Given the description of an element on the screen output the (x, y) to click on. 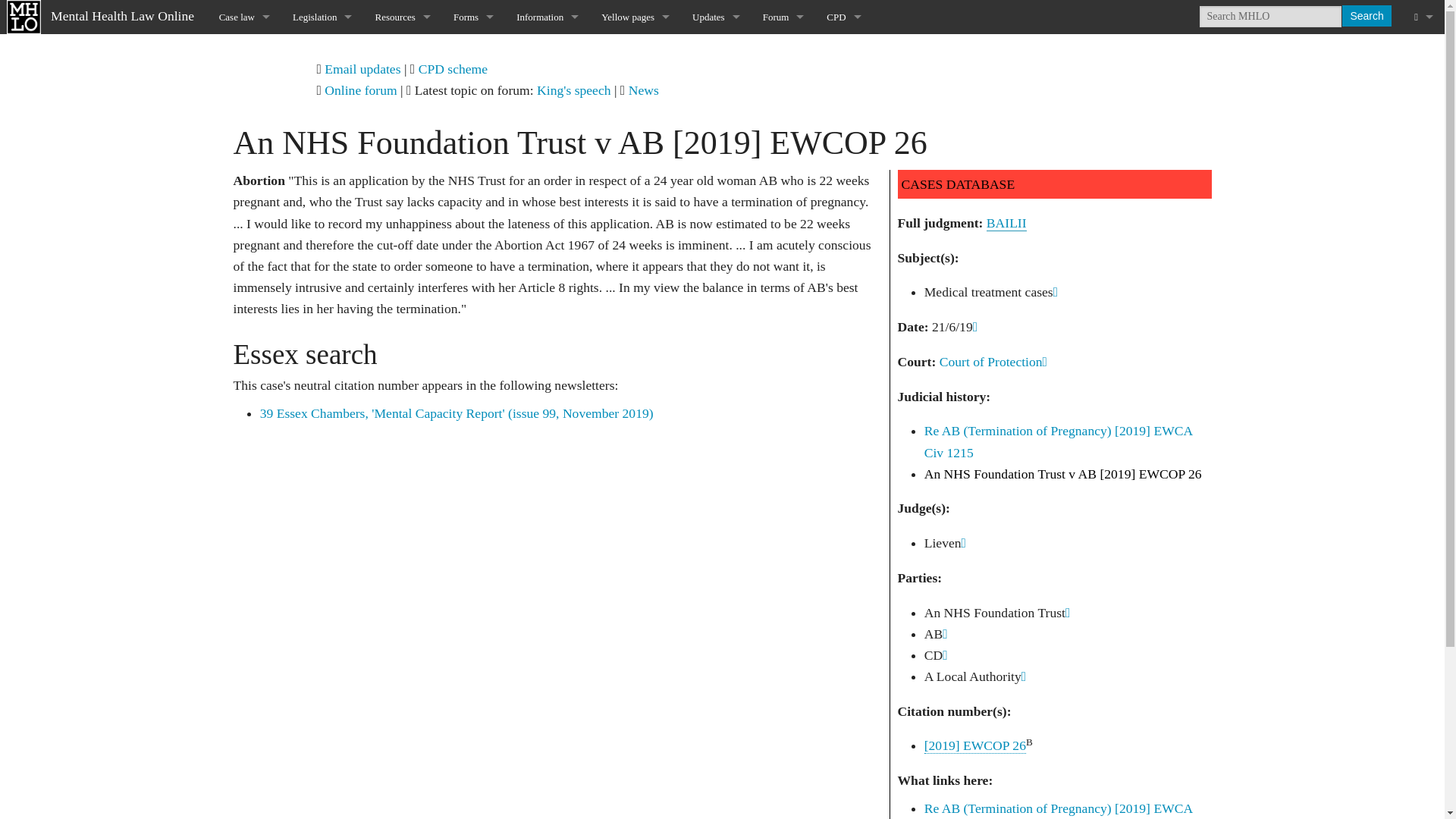
MHA Statutory Forms (473, 50)
Legal Aid forms (473, 255)
HESC Rules (322, 221)
Browse legislation (322, 50)
DOLS Standard Forms (473, 153)
Full text of MCA 2005 (322, 153)
Mental Health Law Online (103, 15)
Court of Protection forms (473, 187)
All tribunal rules (322, 187)
MHA Reference Guide (401, 153)
Legislation (322, 17)
Full text of MHA 1983 (322, 119)
CPD scheme (453, 68)
Forms (473, 17)
39 Essex Chambers newsletter (401, 221)
